Given the description of an element on the screen output the (x, y) to click on. 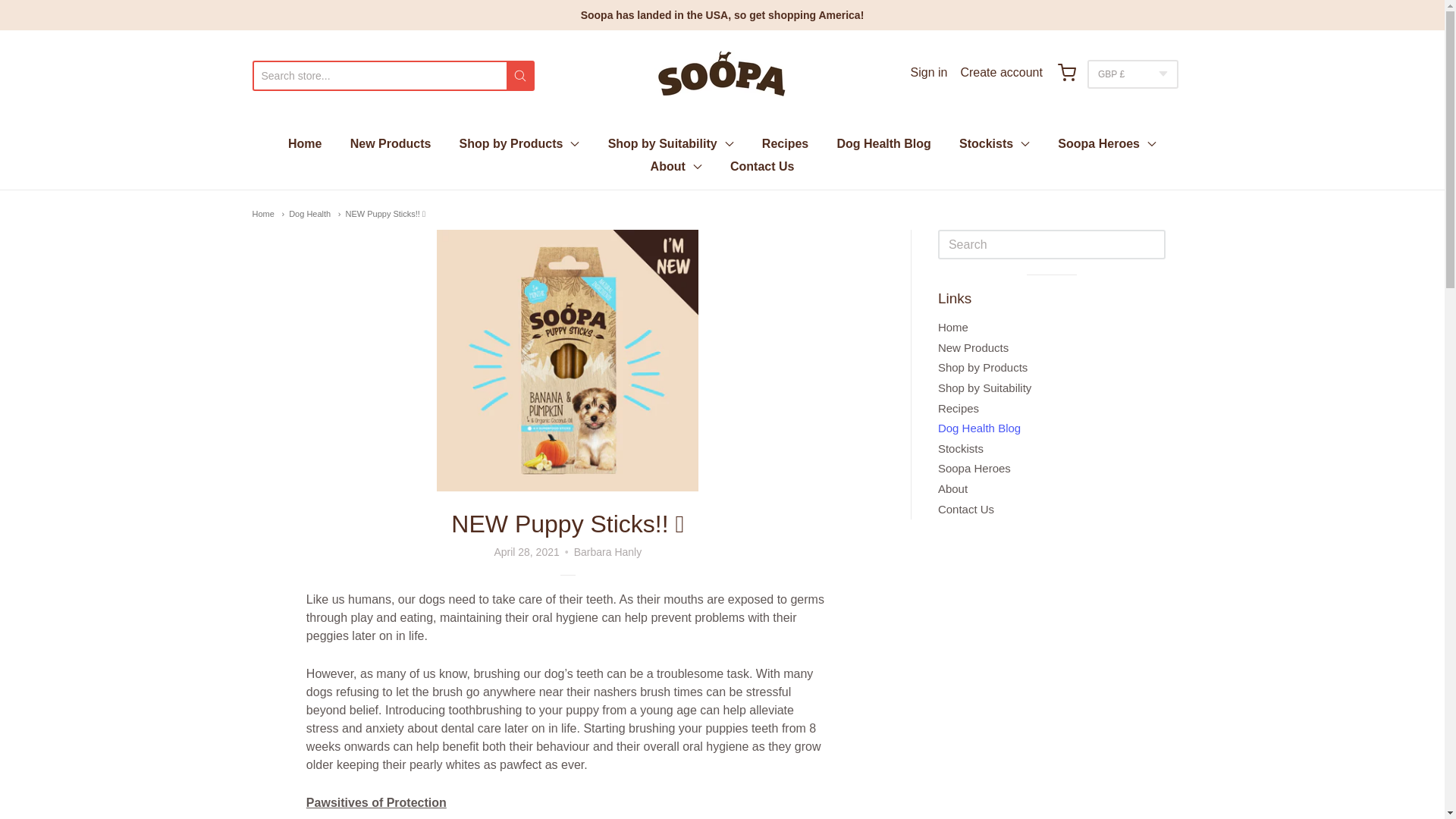
Soopa Pets (721, 75)
Create account (1000, 75)
Home (262, 213)
Dog Health (305, 213)
Sign in (928, 75)
